Given the description of an element on the screen output the (x, y) to click on. 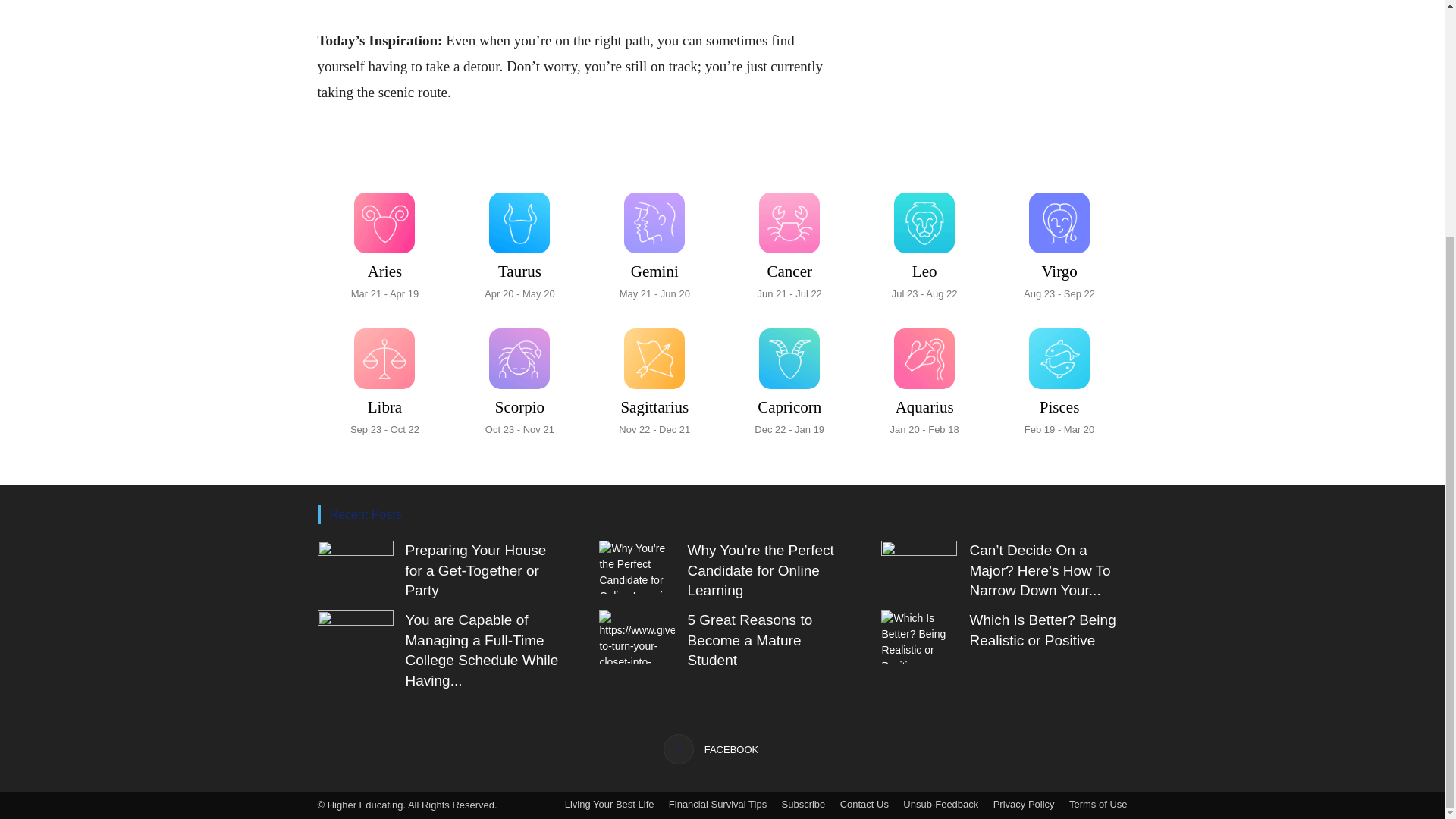
Preparing Your House for a Get-Together or Party (1058, 247)
Aries Horoscope Today (355, 566)
Cancer Horoscope Today (384, 247)
Aquarius Horoscope Today (518, 247)
Sagittarius Horoscope Today (789, 247)
Pisces Horoscope Today (789, 382)
Libra Horoscope Today (924, 382)
Leo Horoscope Today (654, 382)
